Given the description of an element on the screen output the (x, y) to click on. 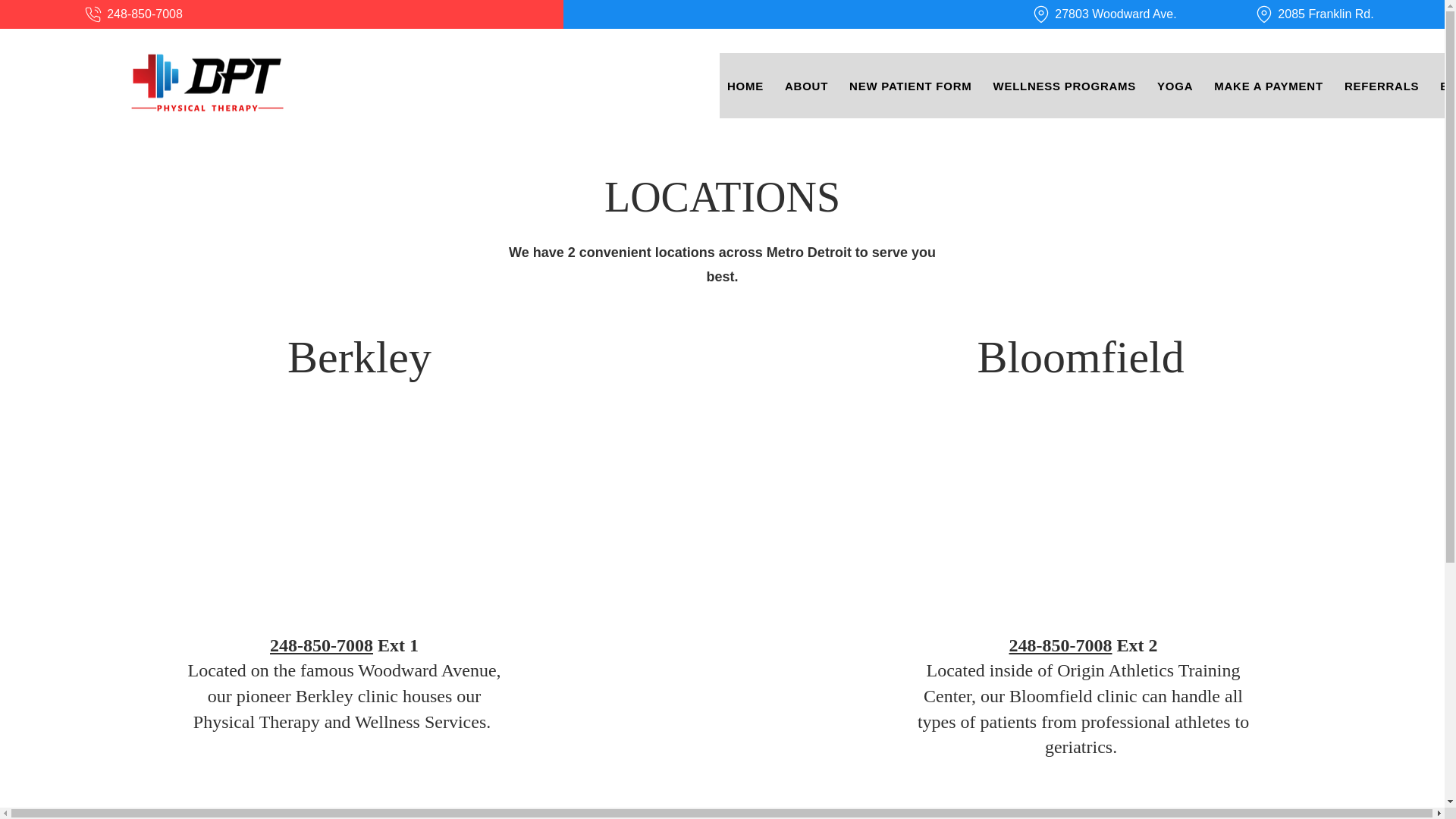
248-850-7008 (132, 14)
REFERRALS (1381, 85)
ABOUT (806, 85)
MAKE A PAYMENT (1268, 85)
248-850-7008 (320, 645)
248-850-7008 (1060, 645)
WELLNESS PROGRAMS (1064, 85)
NEW PATIENT FORM (909, 85)
27803 Woodward Ave. (1103, 14)
2085 Franklin Rd. (1313, 14)
